Given the description of an element on the screen output the (x, y) to click on. 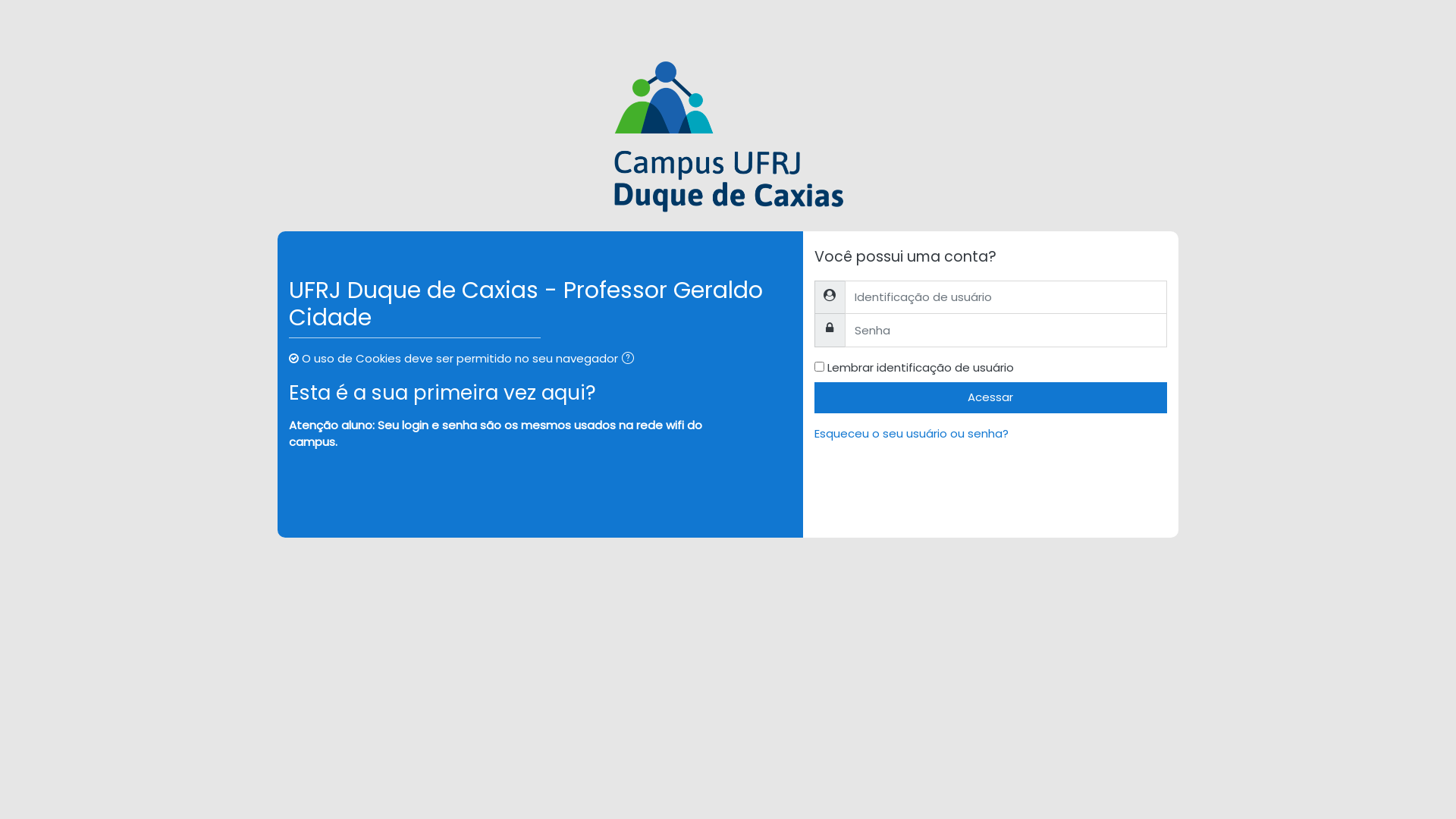
UFRJ Duque de Caxias - Professor Geraldo Cidade Element type: hover (727, 137)
Acessar Element type: text (990, 397)
